Given the description of an element on the screen output the (x, y) to click on. 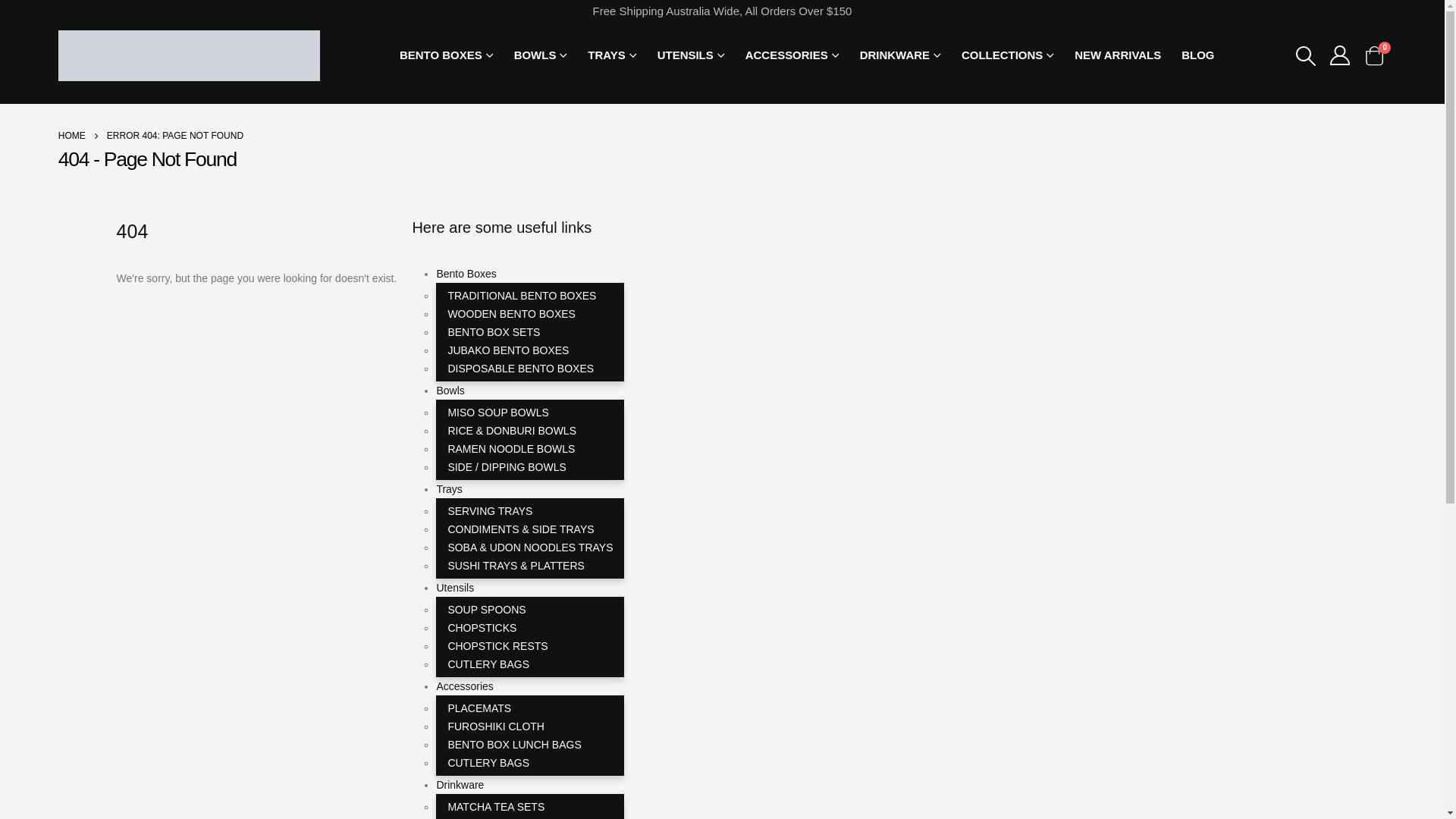
Katachiware - Japanese Bento Boxes Australia Element type: hover (189, 55)
Bento Boxes Element type: text (465, 273)
HOME Element type: text (71, 135)
JUBAKO BENTO BOXES Element type: text (508, 350)
CUTLERY BAGS Element type: text (488, 762)
CUTLERY BAGS Element type: text (488, 664)
NEW ARRIVALS Element type: text (1117, 54)
RAMEN NOODLE BOWLS Element type: text (511, 448)
TRADITIONAL BENTO BOXES Element type: text (521, 295)
SERVING TRAYS Element type: text (489, 510)
CONDIMENTS & SIDE TRAYS Element type: text (520, 529)
BENTO BOX LUNCH BAGS Element type: text (514, 744)
BENTO BOX SETS Element type: text (493, 332)
Trays Element type: text (448, 489)
PLACEMATS Element type: text (479, 708)
BOWLS Element type: text (540, 54)
My Account Element type: hover (1340, 55)
CHOPSTICKS Element type: text (481, 627)
UTENSILS Element type: text (690, 54)
BENTO BOXES Element type: text (446, 54)
DRINKWARE Element type: text (900, 54)
ACCESSORIES Element type: text (792, 54)
WOODEN BENTO BOXES Element type: text (511, 313)
COLLECTIONS Element type: text (1007, 54)
CHOPSTICK RESTS Element type: text (497, 645)
DISPOSABLE BENTO BOXES Element type: text (520, 368)
BLOG Element type: text (1197, 54)
Accessories Element type: text (464, 686)
Bowls Element type: text (450, 390)
SOBA & UDON NOODLES TRAYS Element type: text (530, 547)
MISO SOUP BOWLS Element type: text (498, 412)
Drinkware Element type: text (459, 784)
SOUP SPOONS Element type: text (486, 609)
FUROSHIKI CLOTH Element type: text (495, 726)
SUSHI TRAYS & PLATTERS Element type: text (516, 565)
TRAYS Element type: text (611, 54)
RICE & DONBURI BOWLS Element type: text (511, 430)
SIDE / DIPPING BOWLS Element type: text (506, 467)
Utensils Element type: text (454, 587)
